Given the description of an element on the screen output the (x, y) to click on. 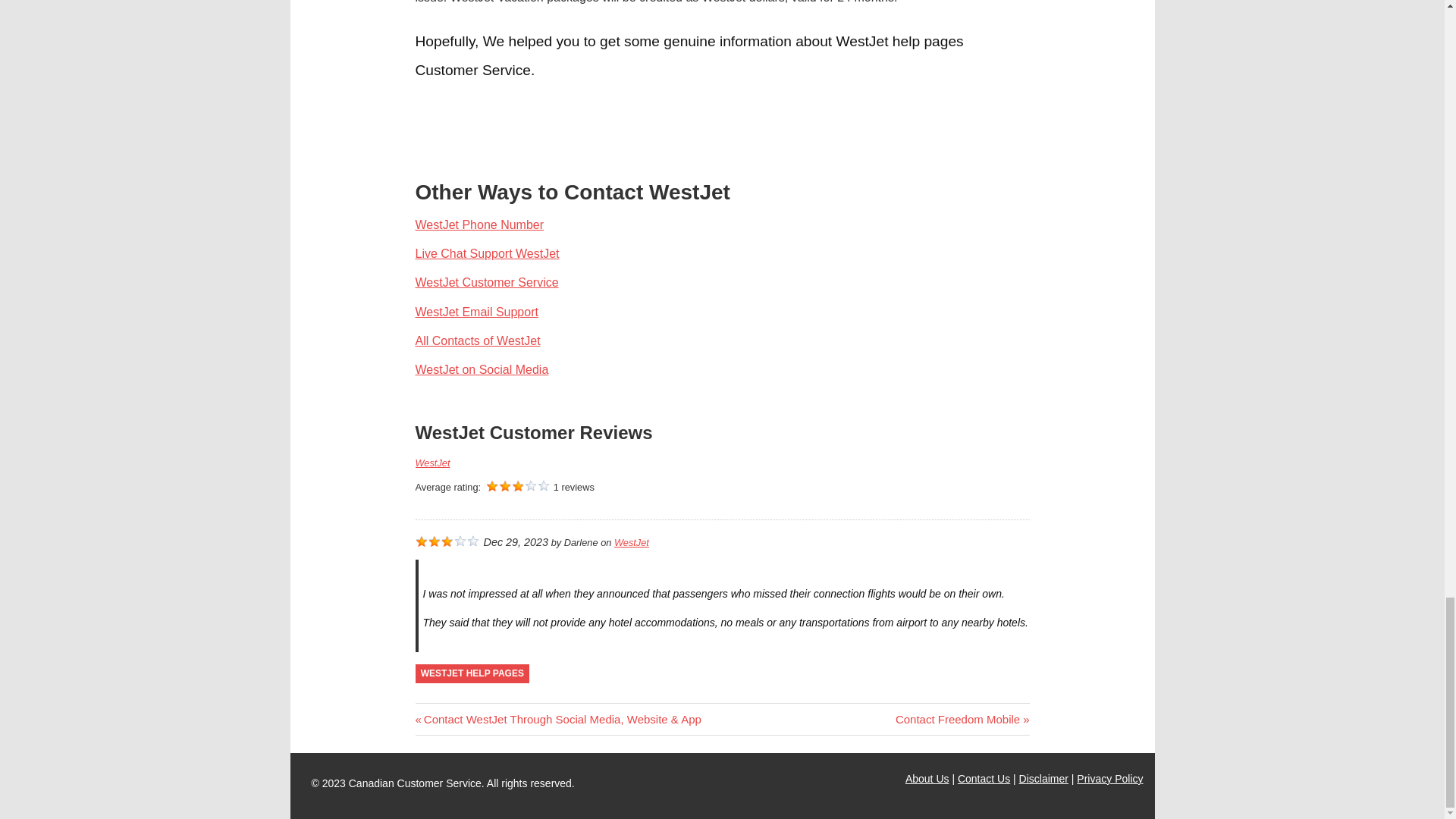
WestJet (631, 542)
WestJet (431, 462)
WestJet Customer Service (486, 282)
WestJet Email Support (962, 718)
Live Chat Support WestJet (476, 311)
All Contacts of WestJet (486, 253)
WestJet on Social Media (477, 340)
About Us (481, 369)
Contact Us (927, 778)
Privacy Policy (984, 778)
WESTJET HELP PAGES (1109, 778)
Disclaimer (471, 673)
WestJet Phone Number (1043, 778)
